Given the description of an element on the screen output the (x, y) to click on. 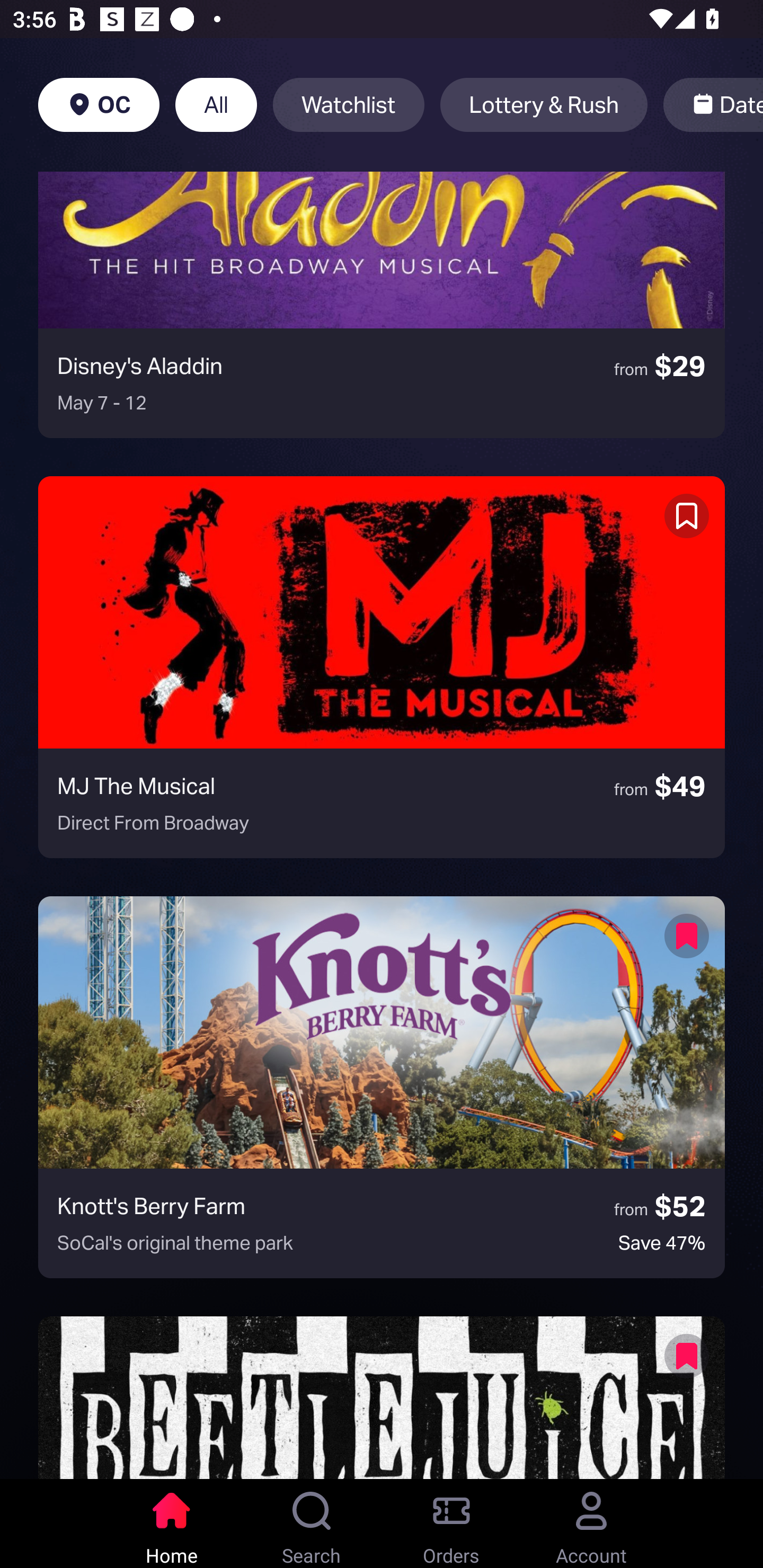
OC (98, 104)
All (216, 104)
Watchlist (348, 104)
Lottery & Rush (543, 104)
Disney's Aladdin from $29 May 7 - 12 (381, 303)
MJ The Musical from $49 Direct From Broadway (381, 666)
Search (311, 1523)
Orders (451, 1523)
Account (591, 1523)
